Given the description of an element on the screen output the (x, y) to click on. 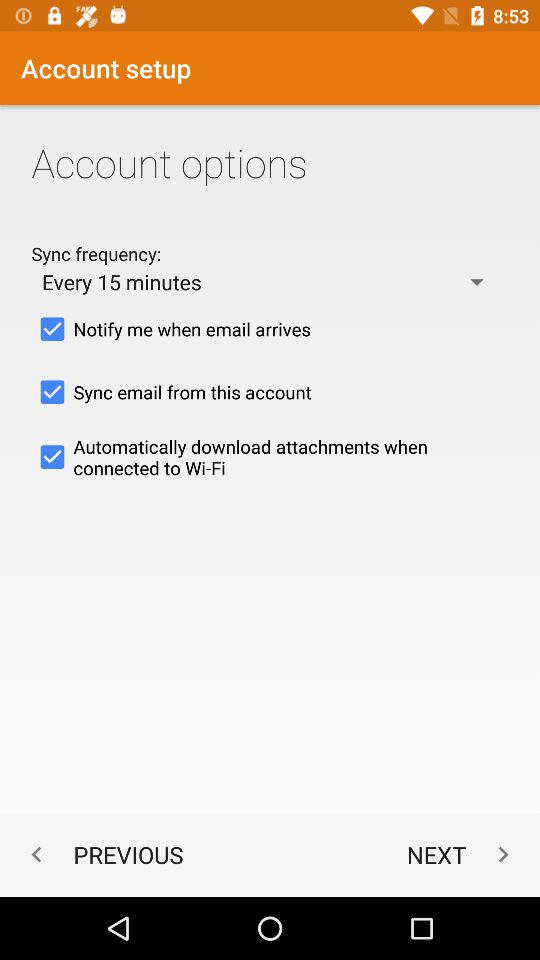
select item below the automatically download attachments icon (102, 854)
